Given the description of an element on the screen output the (x, y) to click on. 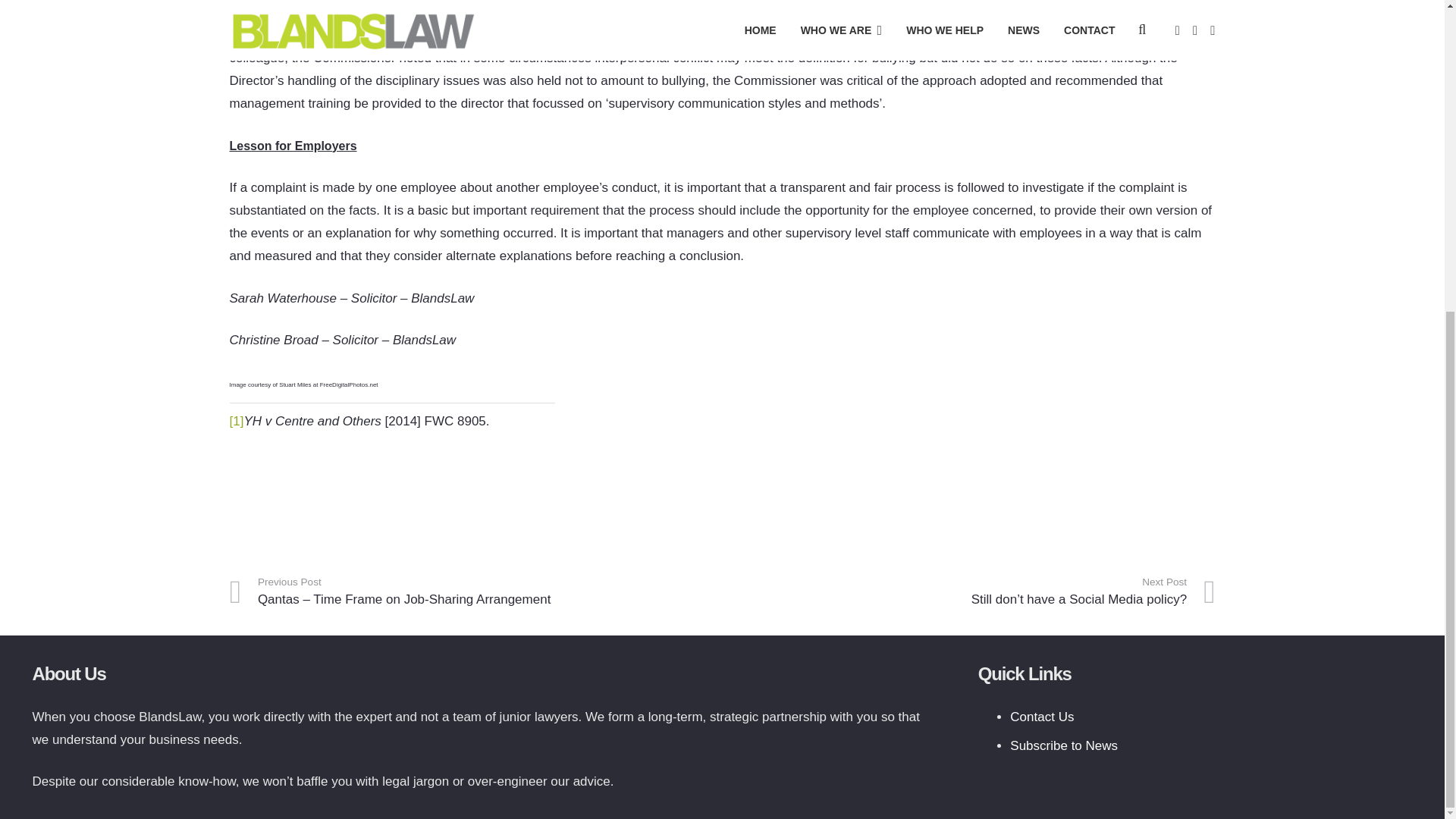
Contact Us (1042, 716)
Subscribe to News (1064, 745)
